Given the description of an element on the screen output the (x, y) to click on. 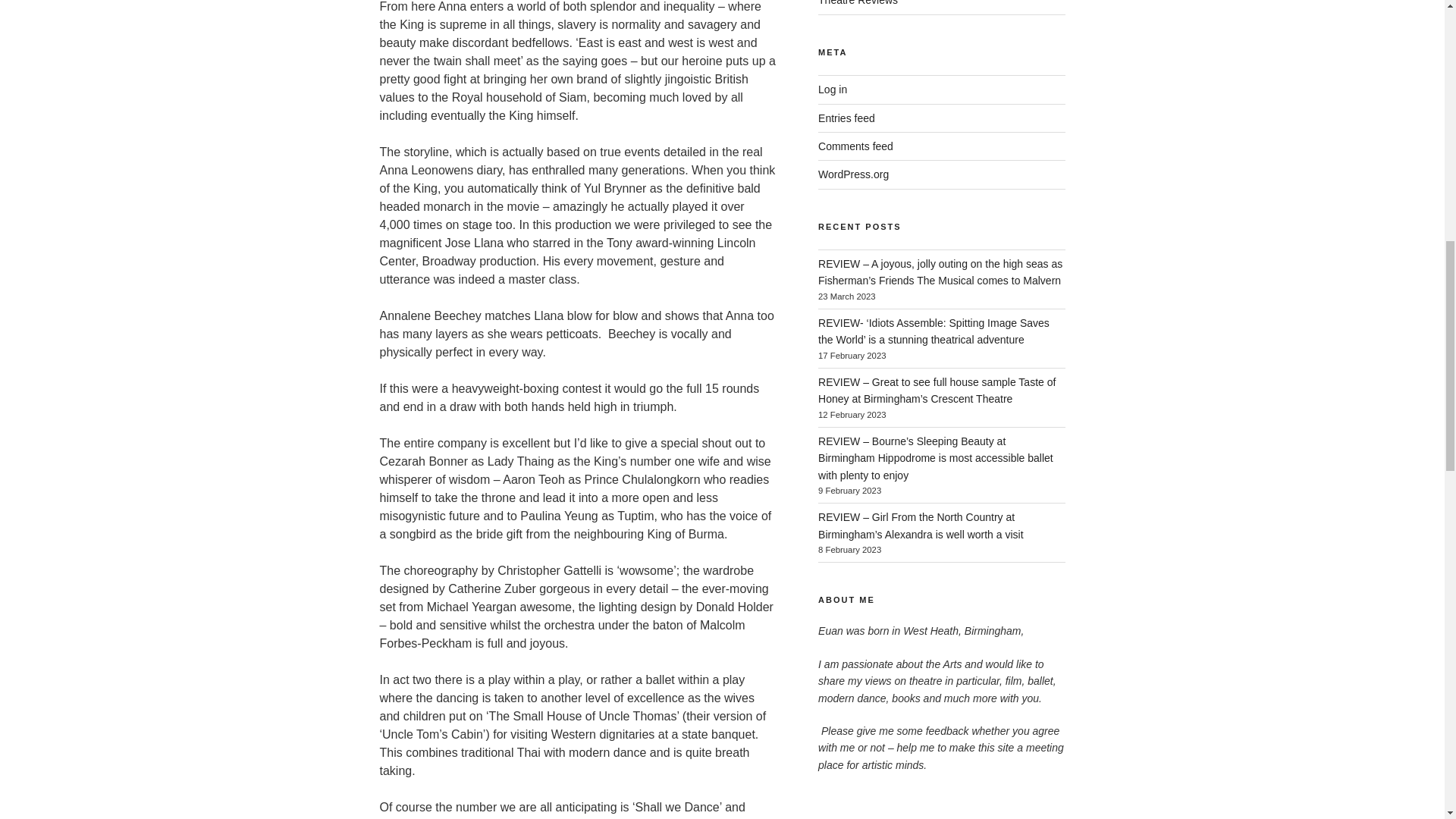
Entries feed (846, 118)
WordPress.org (853, 174)
Theatre Reviews (858, 2)
Comments feed (855, 146)
Log in (832, 89)
